Given the description of an element on the screen output the (x, y) to click on. 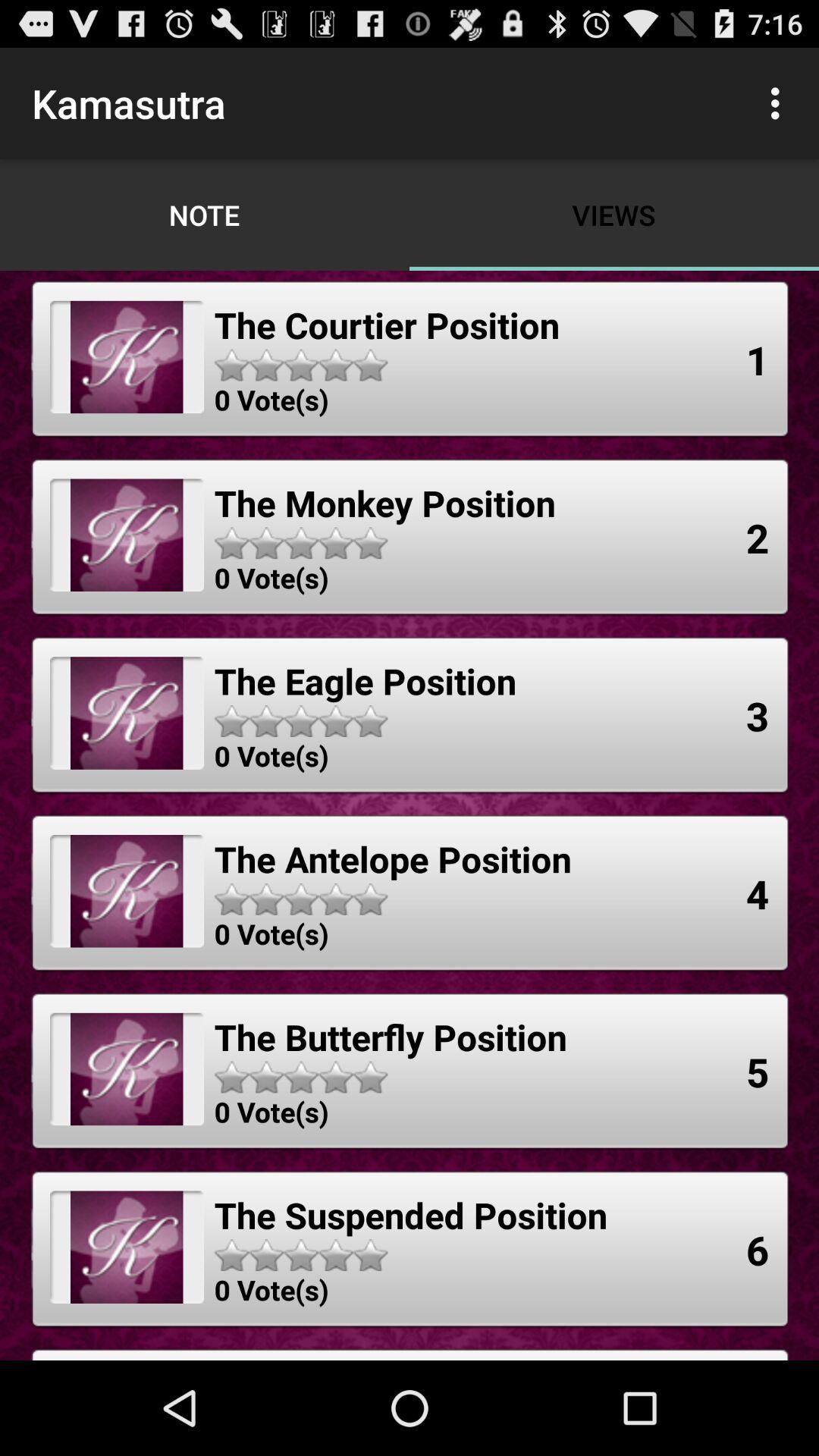
click the item to the left of 4 item (392, 858)
